Given the description of an element on the screen output the (x, y) to click on. 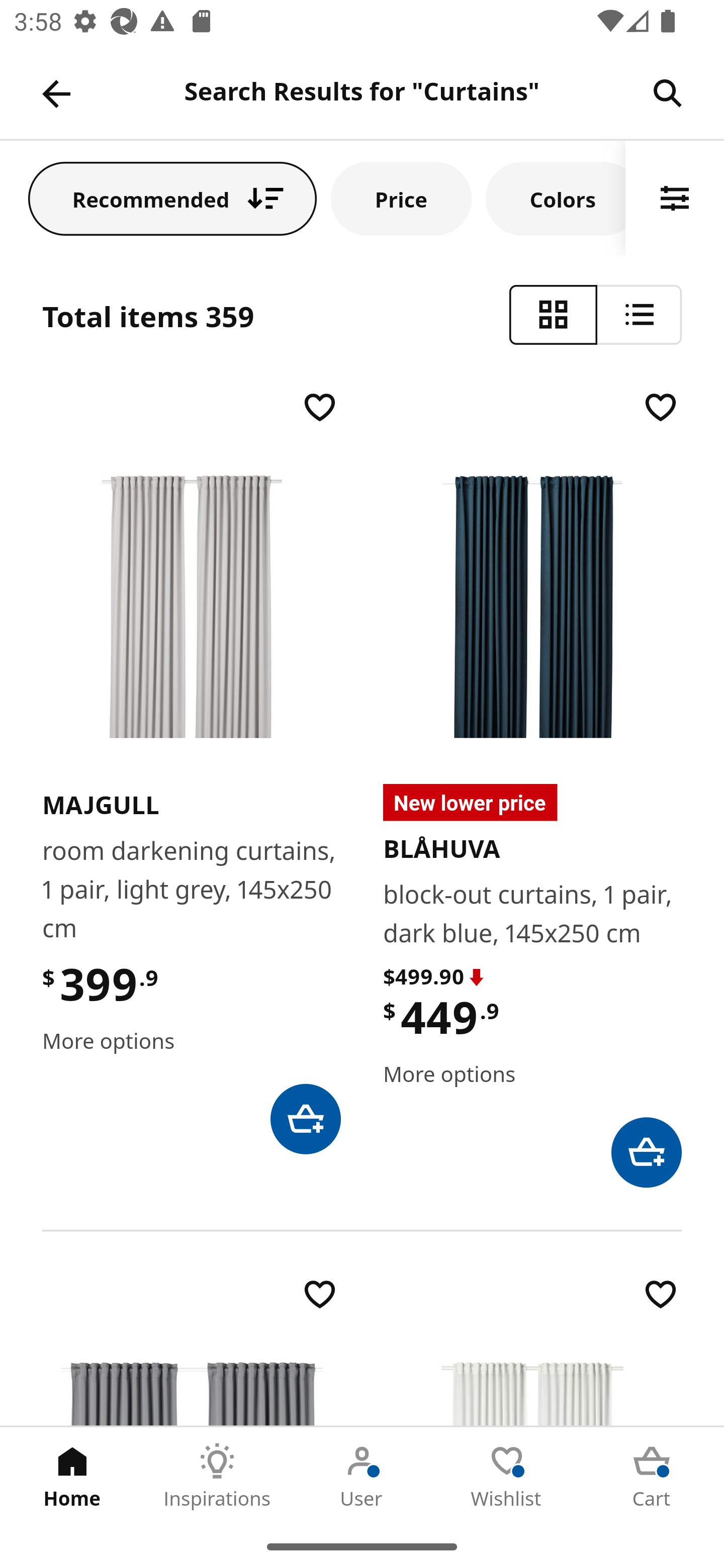
Recommended (172, 198)
Price (400, 198)
Colors (555, 198)
Home
Tab 1 of 5 (72, 1476)
Inspirations
Tab 2 of 5 (216, 1476)
User
Tab 3 of 5 (361, 1476)
Wishlist
Tab 4 of 5 (506, 1476)
Cart
Tab 5 of 5 (651, 1476)
